Given the description of an element on the screen output the (x, y) to click on. 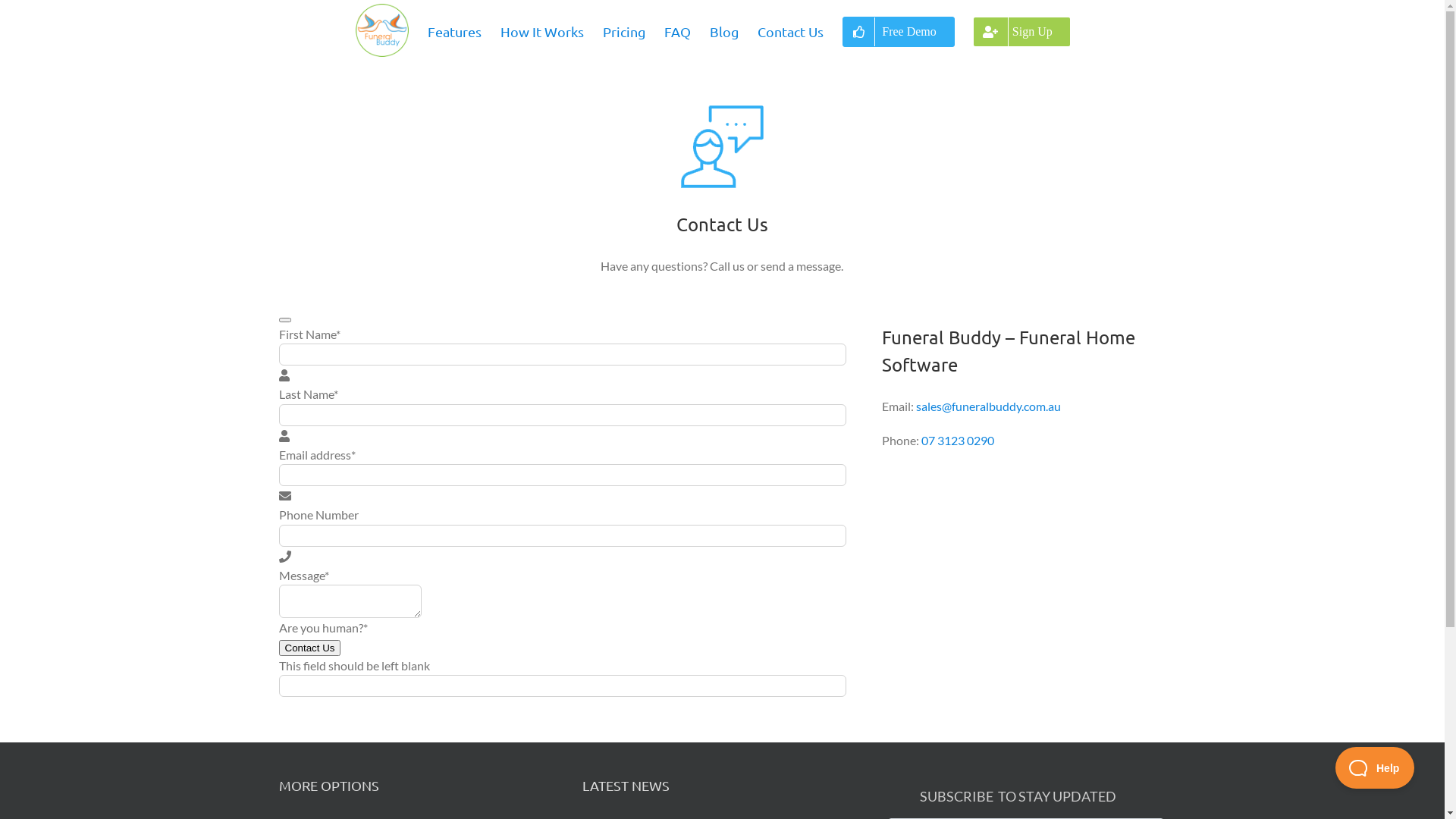
Blog Element type: text (723, 31)
Free Demo Element type: text (898, 31)
How It Works Element type: text (541, 31)
submit Element type: text (285, 319)
Contact Us Element type: text (790, 31)
Sign Up Element type: text (1021, 31)
Features Element type: text (454, 31)
Contact Us Element type: text (310, 647)
07 3123 0290 Element type: text (957, 440)
sales@funeralbuddy.com.au Element type: text (988, 405)
FAQ Element type: text (677, 31)
Pricing Element type: text (623, 31)
